Given the description of an element on the screen output the (x, y) to click on. 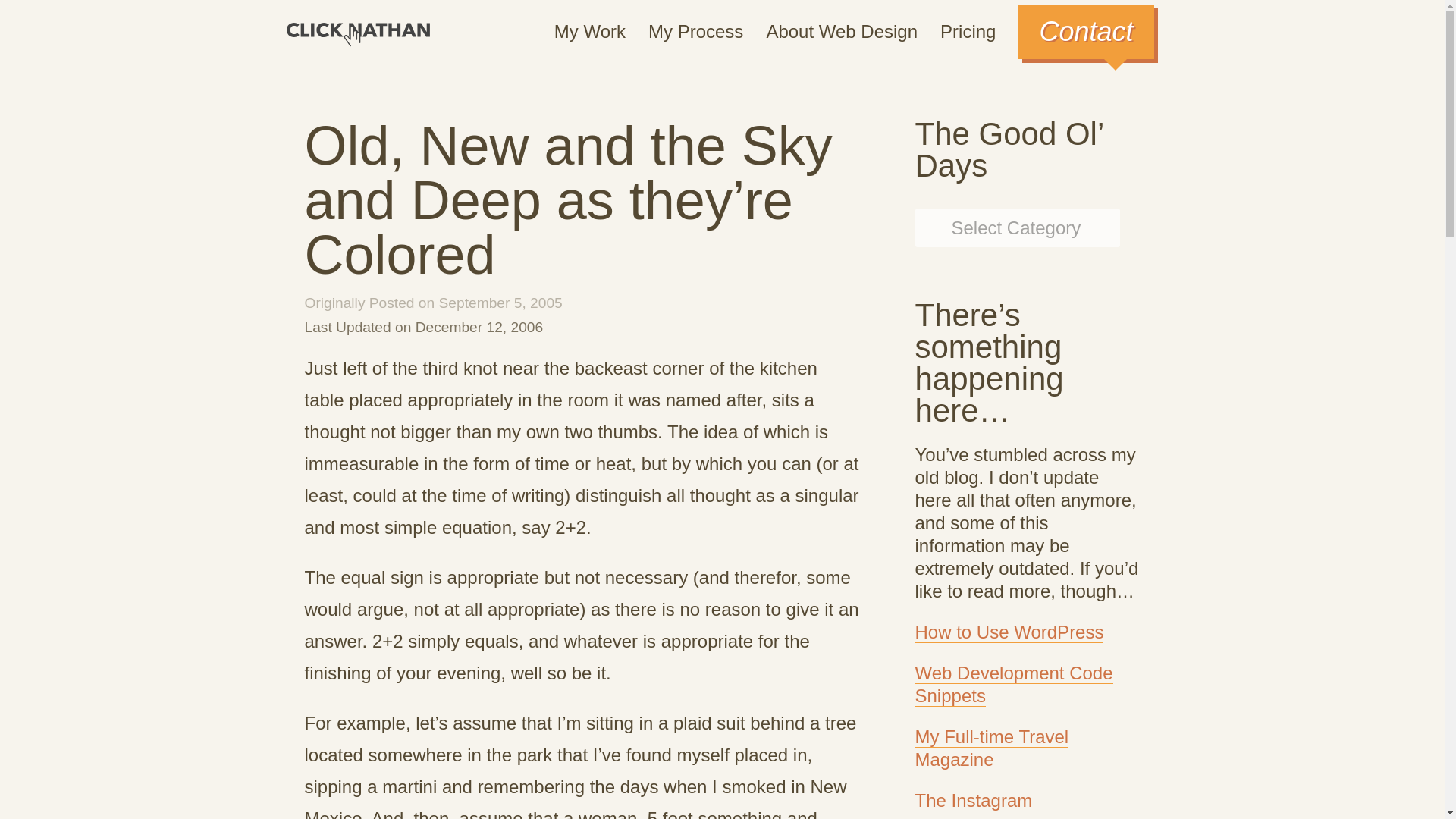
About Web Design (841, 31)
My Process (694, 31)
Web Development Code Snippets (1013, 684)
My Work (590, 31)
The Instagram (973, 800)
Pricing (967, 31)
My Full-time Travel Magazine (991, 748)
Contact (1085, 31)
How to Use WordPress (1008, 631)
